Given the description of an element on the screen output the (x, y) to click on. 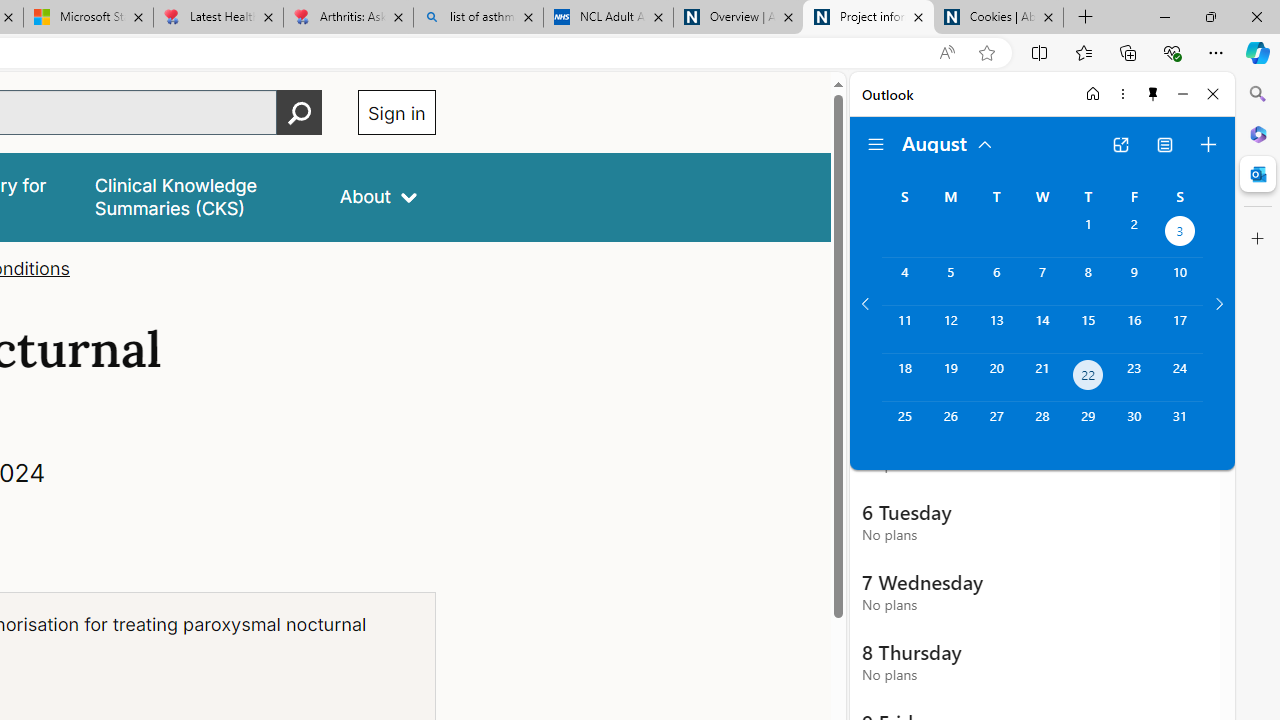
Wednesday, August 21, 2024.  (1042, 377)
New Tab (1085, 17)
Close tab (1048, 16)
Microsoft 365 (1258, 133)
false (198, 196)
Monday, August 26, 2024.  (950, 425)
Friday, August 2, 2024.  (1134, 233)
Cookies | About | NICE (998, 17)
Sunday, August 11, 2024.  (904, 329)
Saturday, August 3, 2024. Date selected.  (1180, 233)
Friday, August 16, 2024.  (1134, 329)
View Switcher. Current view is Agenda view (1165, 144)
Home (1093, 93)
About (378, 196)
